Given the description of an element on the screen output the (x, y) to click on. 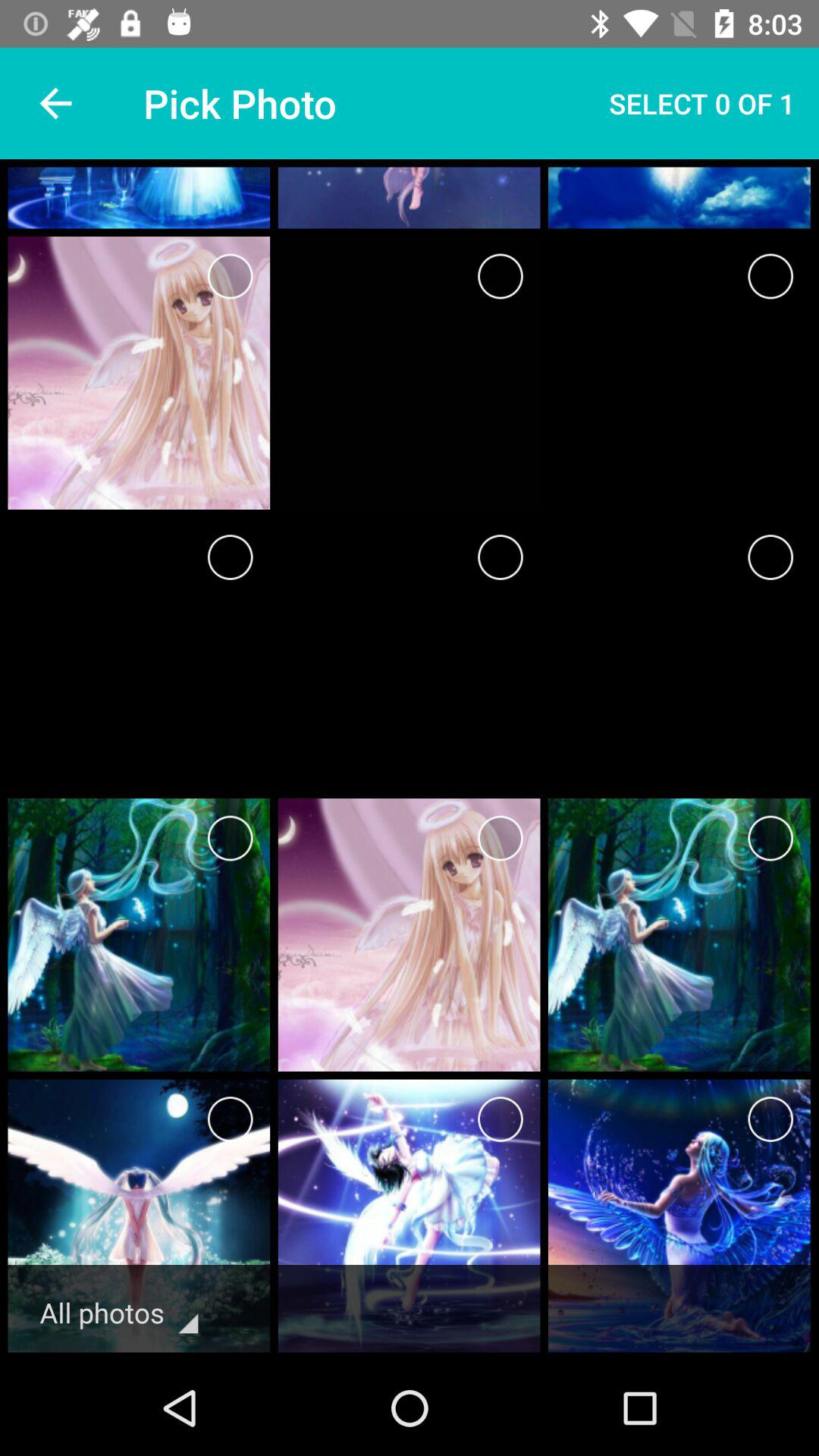
select the image (230, 557)
